Given the description of an element on the screen output the (x, y) to click on. 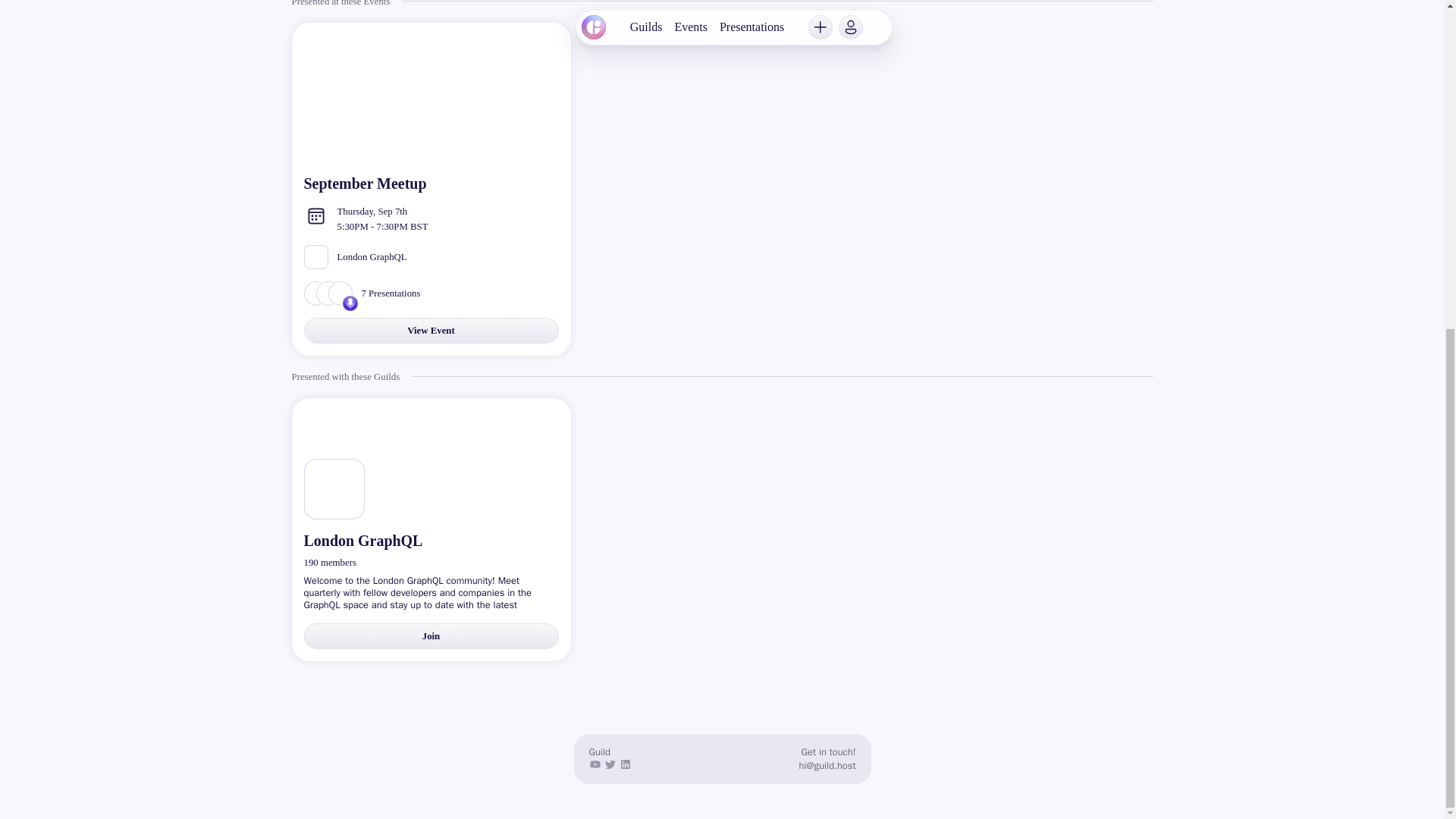
7 Presentations (429, 293)
View Event (429, 330)
London GraphQL (429, 540)
September Meetup (429, 183)
London GraphQL (429, 218)
